Given the description of an element on the screen output the (x, y) to click on. 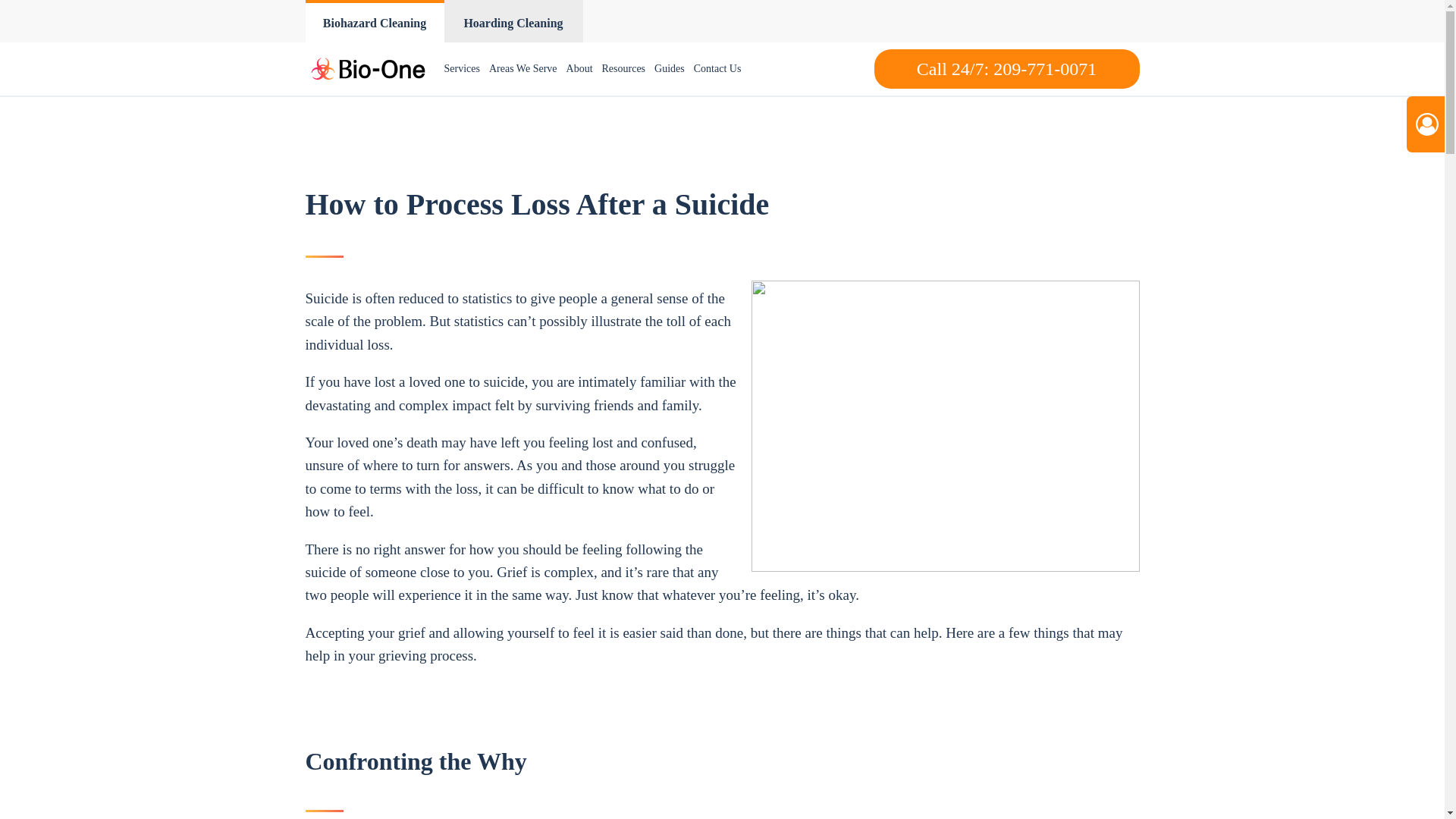
Biohazard Cleaning (374, 21)
Contact Us (716, 68)
Services (461, 68)
Areas We Serve (523, 68)
Hoarding Cleaning (513, 21)
Resources (623, 68)
